Given the description of an element on the screen output the (x, y) to click on. 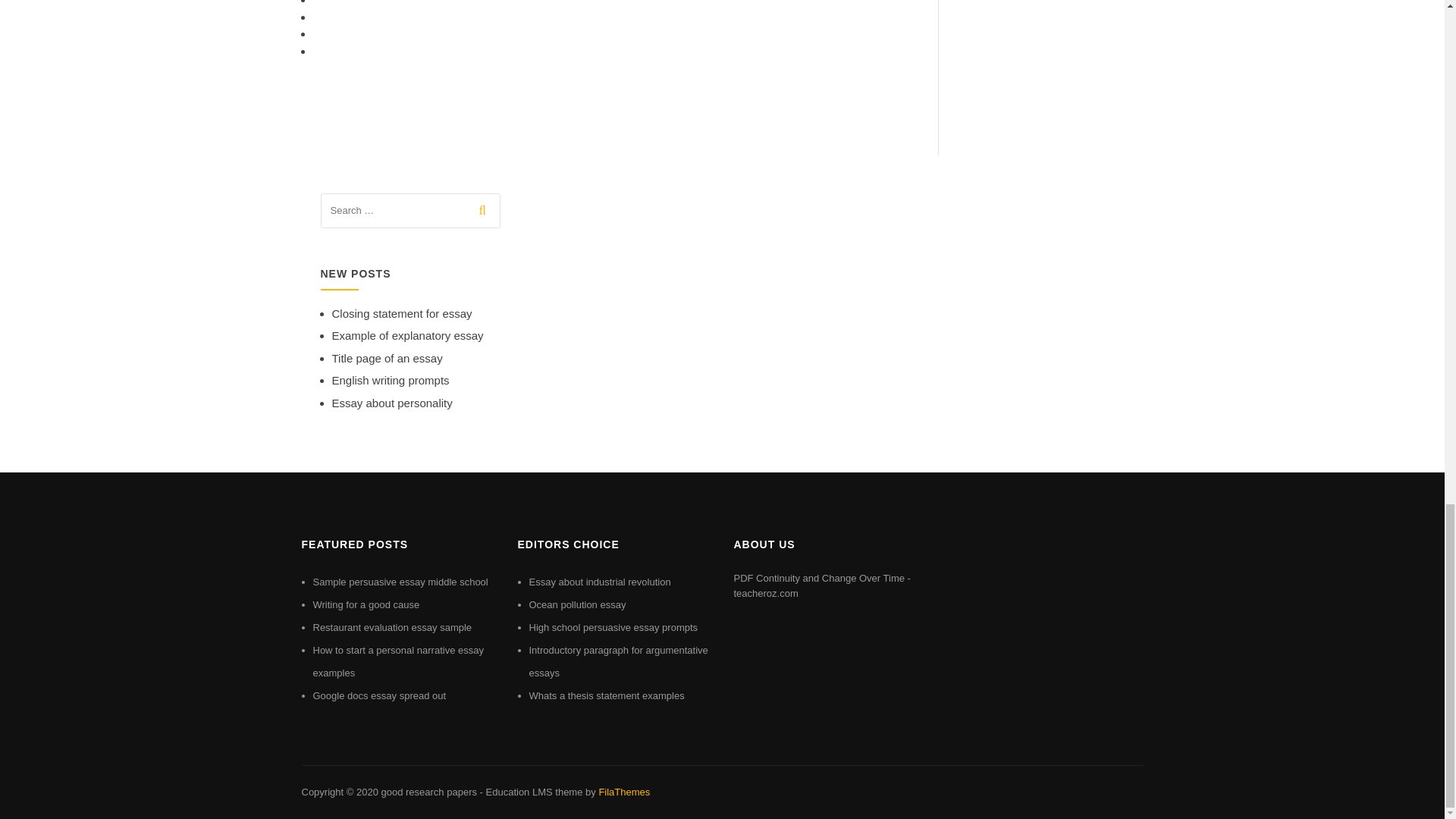
good research papers (428, 791)
Example of explanatory essay (407, 335)
English writing prompts (390, 379)
Introductory paragraph for argumentative essays (618, 661)
Essay about industrial revolution (600, 582)
Title page of an essay (386, 358)
good research papers (428, 791)
High school persuasive essay prompts (613, 627)
Ocean pollution essay (577, 604)
Sample persuasive essay middle school (400, 582)
Essay about personality (391, 402)
How to start a personal narrative essay examples (398, 661)
Restaurant evaluation essay sample (392, 627)
Closing statement for essay (401, 313)
Google docs essay spread out (379, 695)
